Given the description of an element on the screen output the (x, y) to click on. 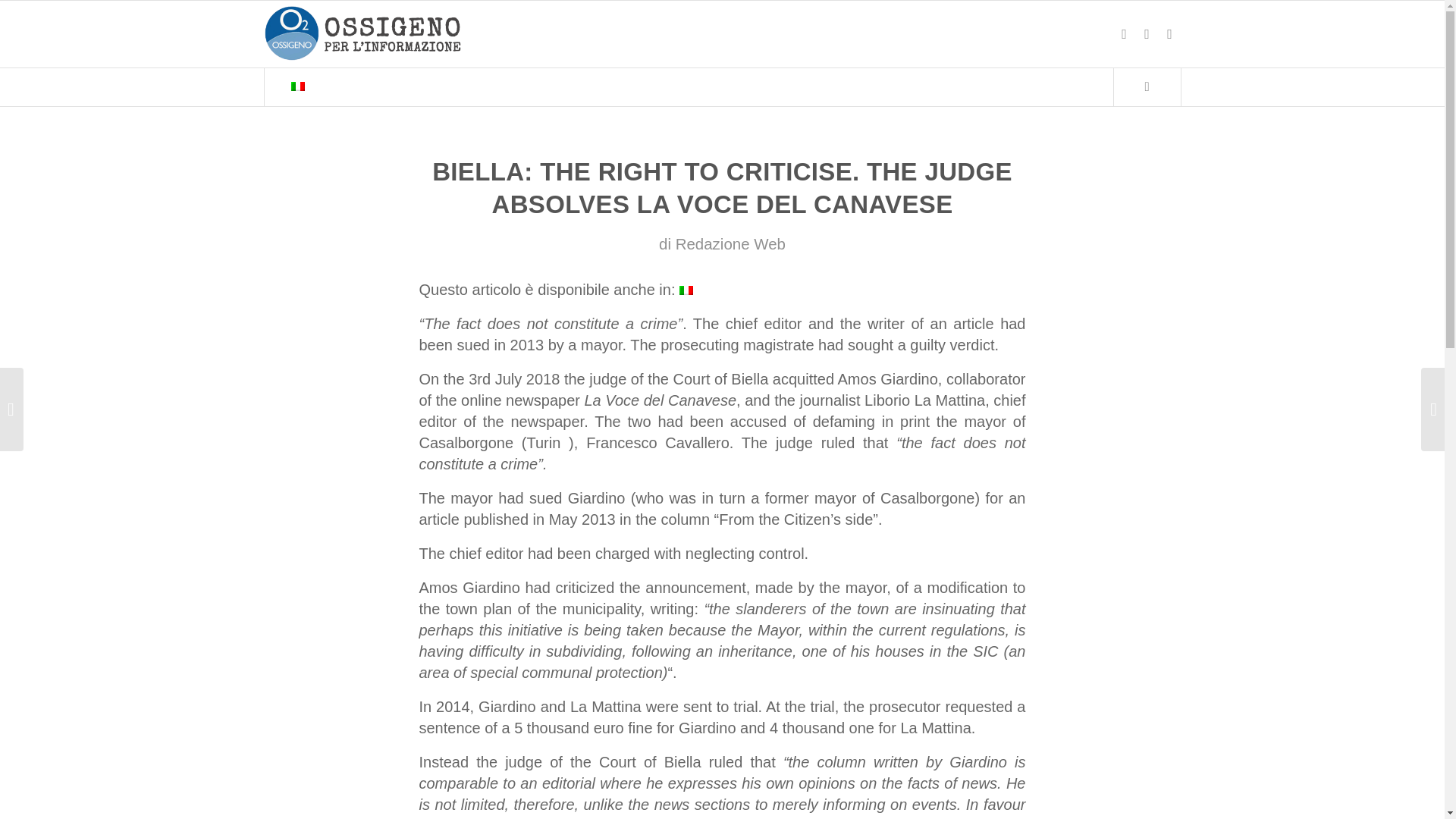
Youtube (1169, 33)
Facebook (1124, 33)
X (1146, 33)
